Given the description of an element on the screen output the (x, y) to click on. 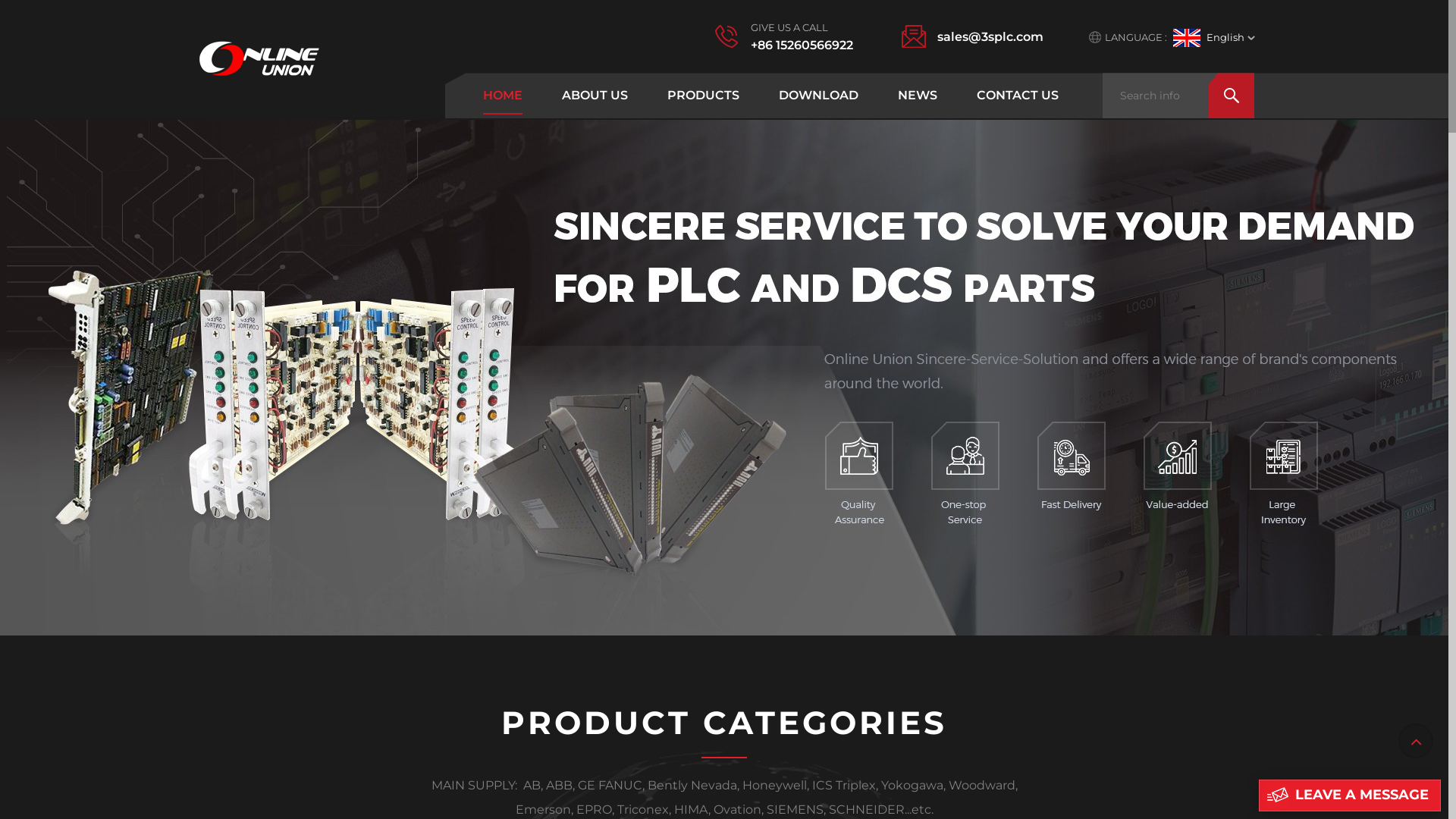
NEWS Element type: text (917, 95)
sales@3splc.com Element type: text (990, 36)
CONTACT US Element type: text (1017, 95)
PRODUCTS Element type: text (703, 95)
Search info Element type: text (1178, 95)
HOME Element type: text (502, 95)
DOWNLOAD Element type: text (818, 95)
+86 15260566922 Element type: text (801, 45)
ABOUT US Element type: text (594, 95)
